Given the description of an element on the screen output the (x, y) to click on. 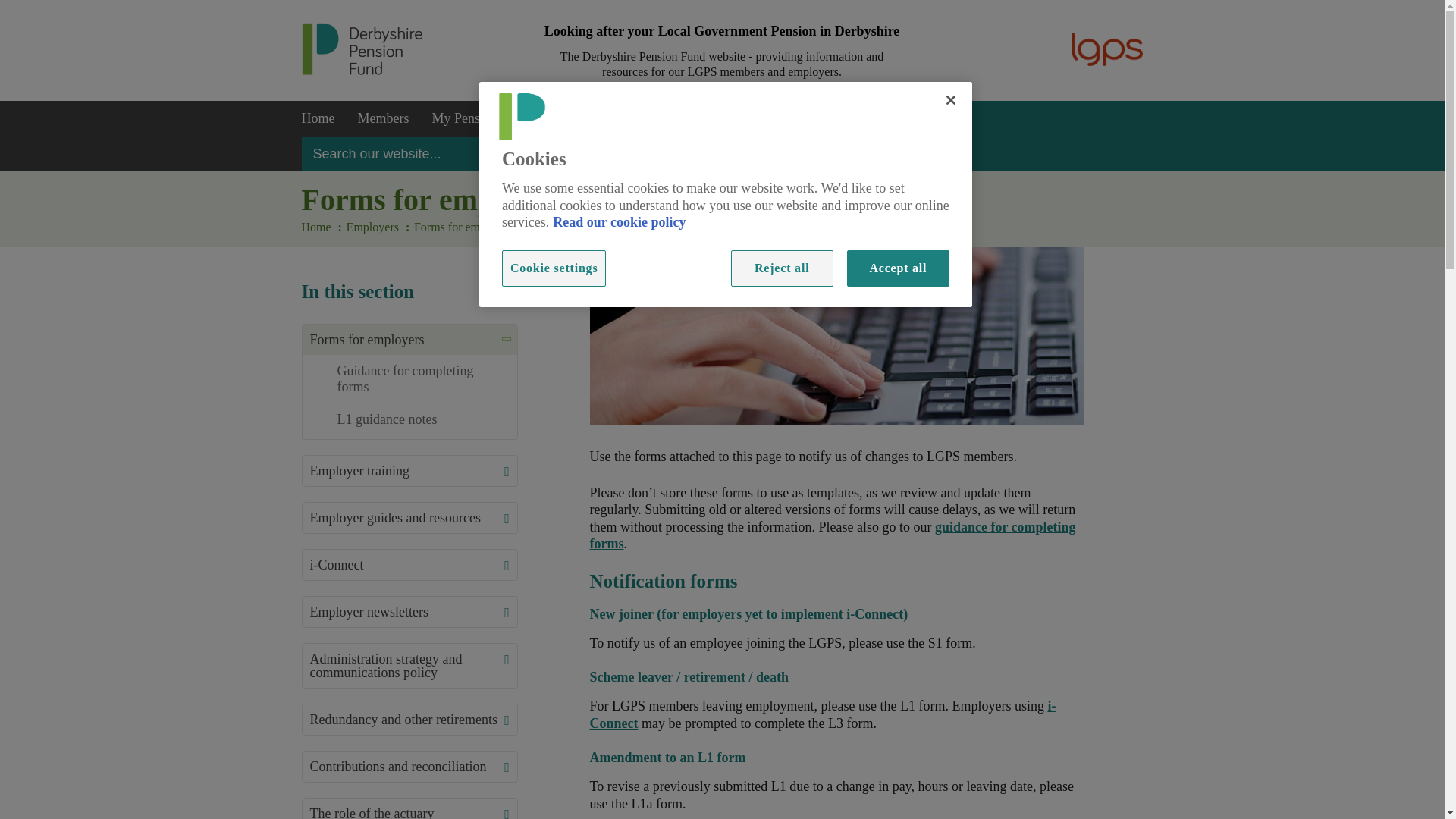
Publications (784, 118)
Go to homepage (317, 118)
Derbyshire Pension Fund (362, 70)
My Pension Online (484, 118)
Go to Employers (589, 118)
Members (383, 118)
LGPS member website logo (1106, 49)
Employers (589, 118)
Home (317, 118)
Contact us (870, 118)
